Given the description of an element on the screen output the (x, y) to click on. 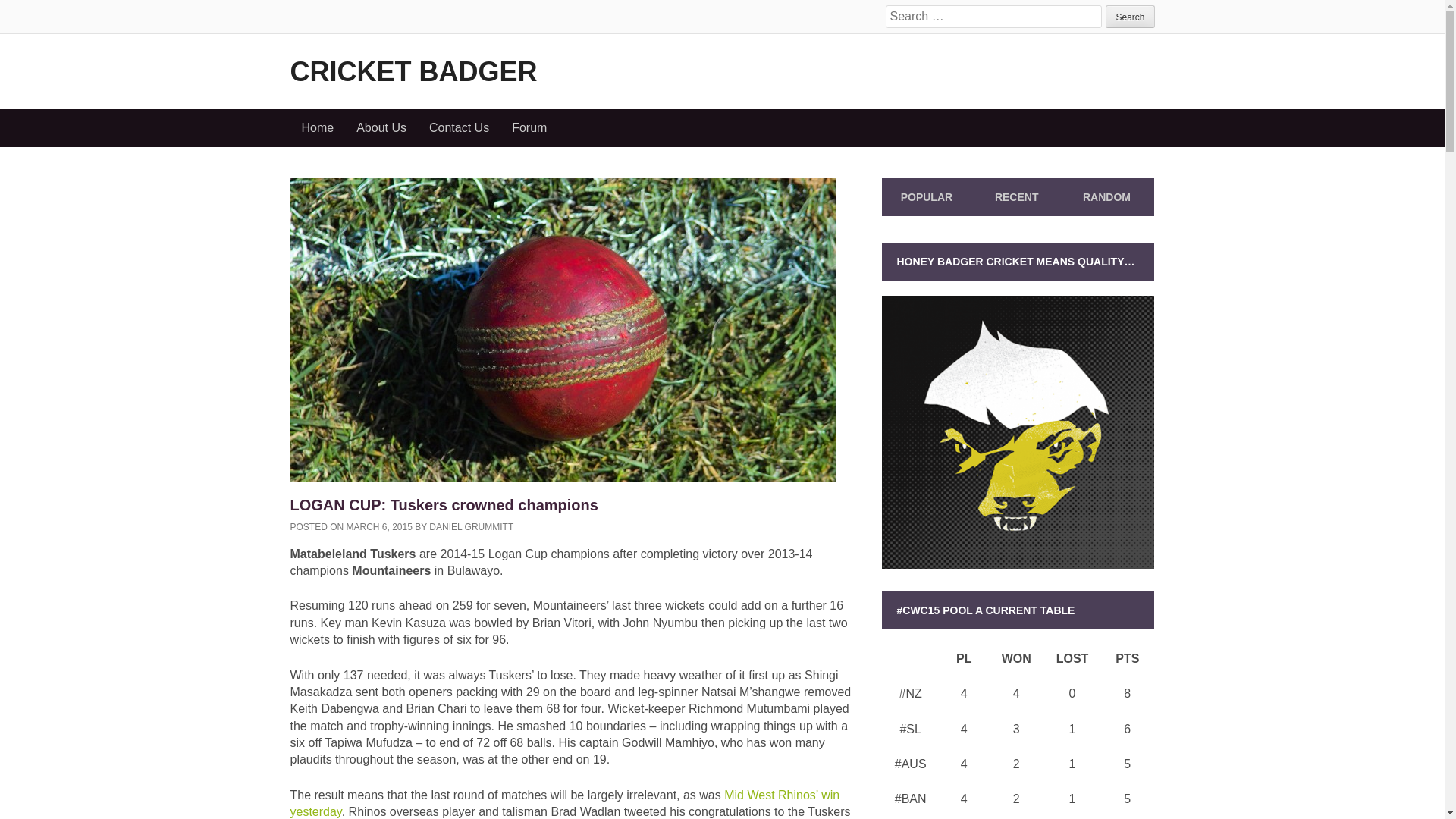
Search (1129, 15)
Search (1129, 15)
Day 3 reports (564, 803)
MARCH 6, 2015 (379, 526)
Home (317, 127)
POPULAR (926, 196)
18:47 (379, 526)
Search (1129, 15)
DANIEL GRUMMITT (471, 526)
CRICKET BADGER (413, 71)
